Given the description of an element on the screen output the (x, y) to click on. 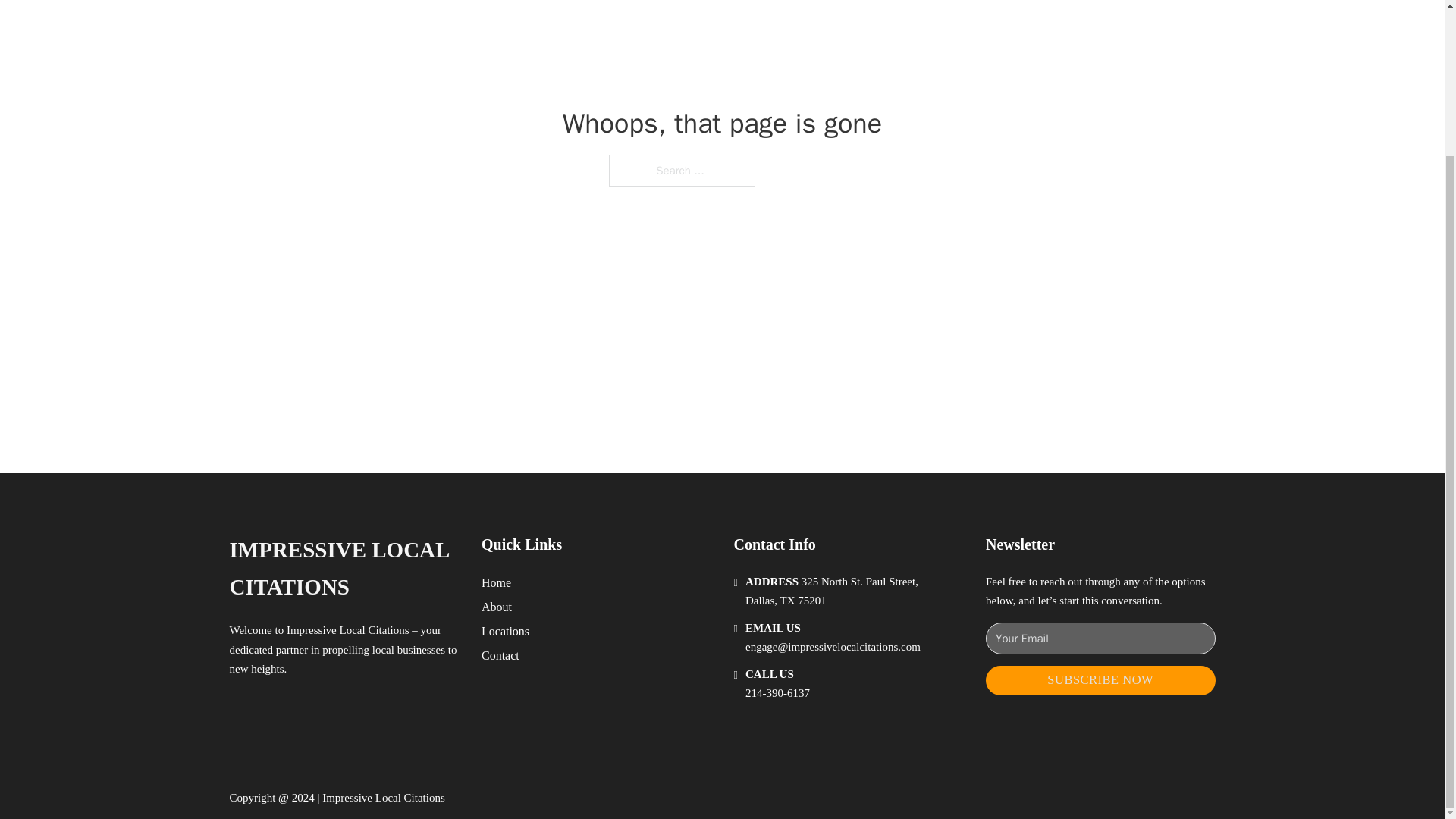
Contact (500, 655)
Locations (505, 630)
About (496, 607)
IMPRESSIVE LOCAL CITATIONS (343, 568)
214-390-6137 (777, 693)
Home (496, 582)
SUBSCRIBE NOW (1100, 680)
